Given the description of an element on the screen output the (x, y) to click on. 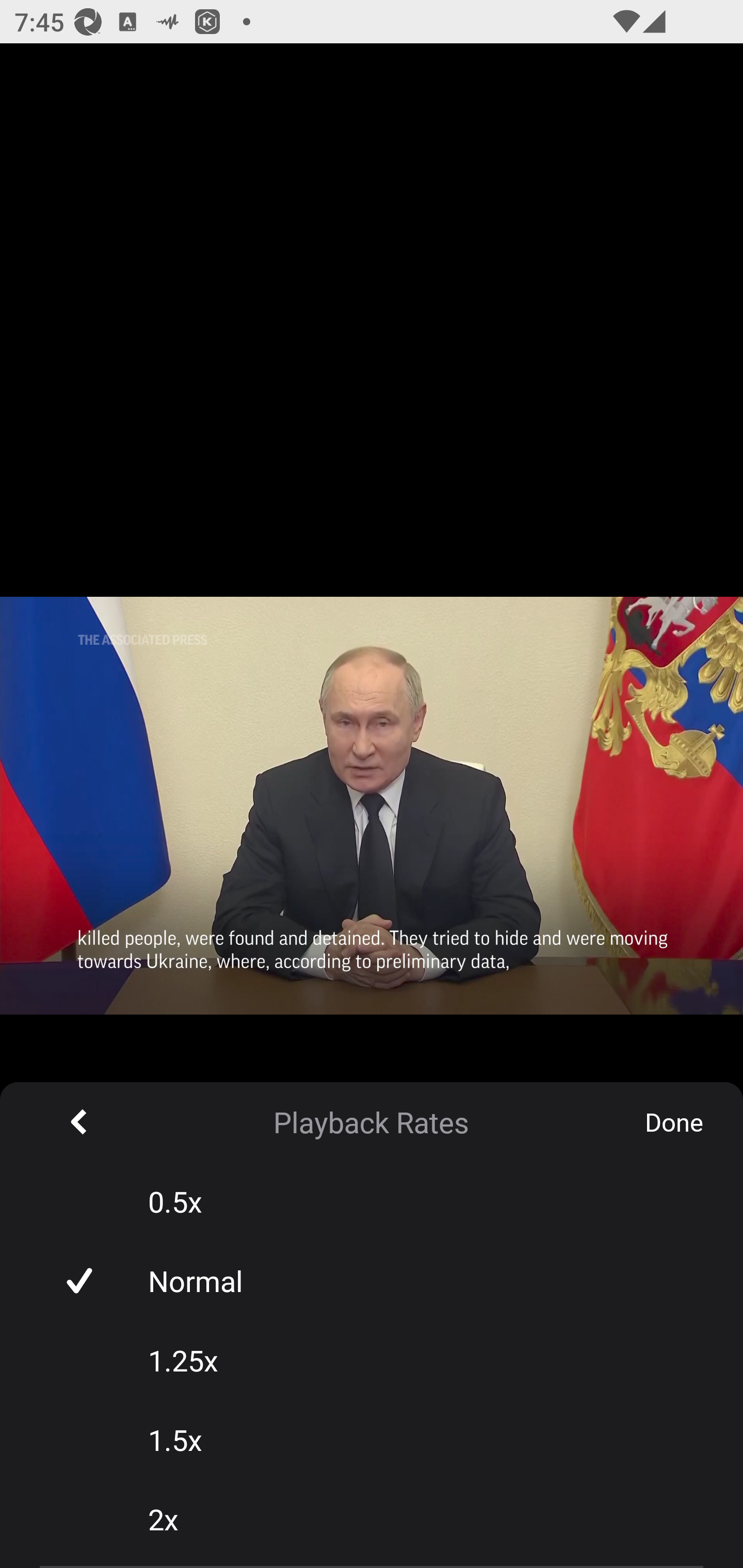
Back (78, 1121)
Done (673, 1121)
0.5x (371, 1200)
Normal (371, 1280)
1.25x (371, 1360)
1.5x (371, 1439)
2x (371, 1518)
